Given the description of an element on the screen output the (x, y) to click on. 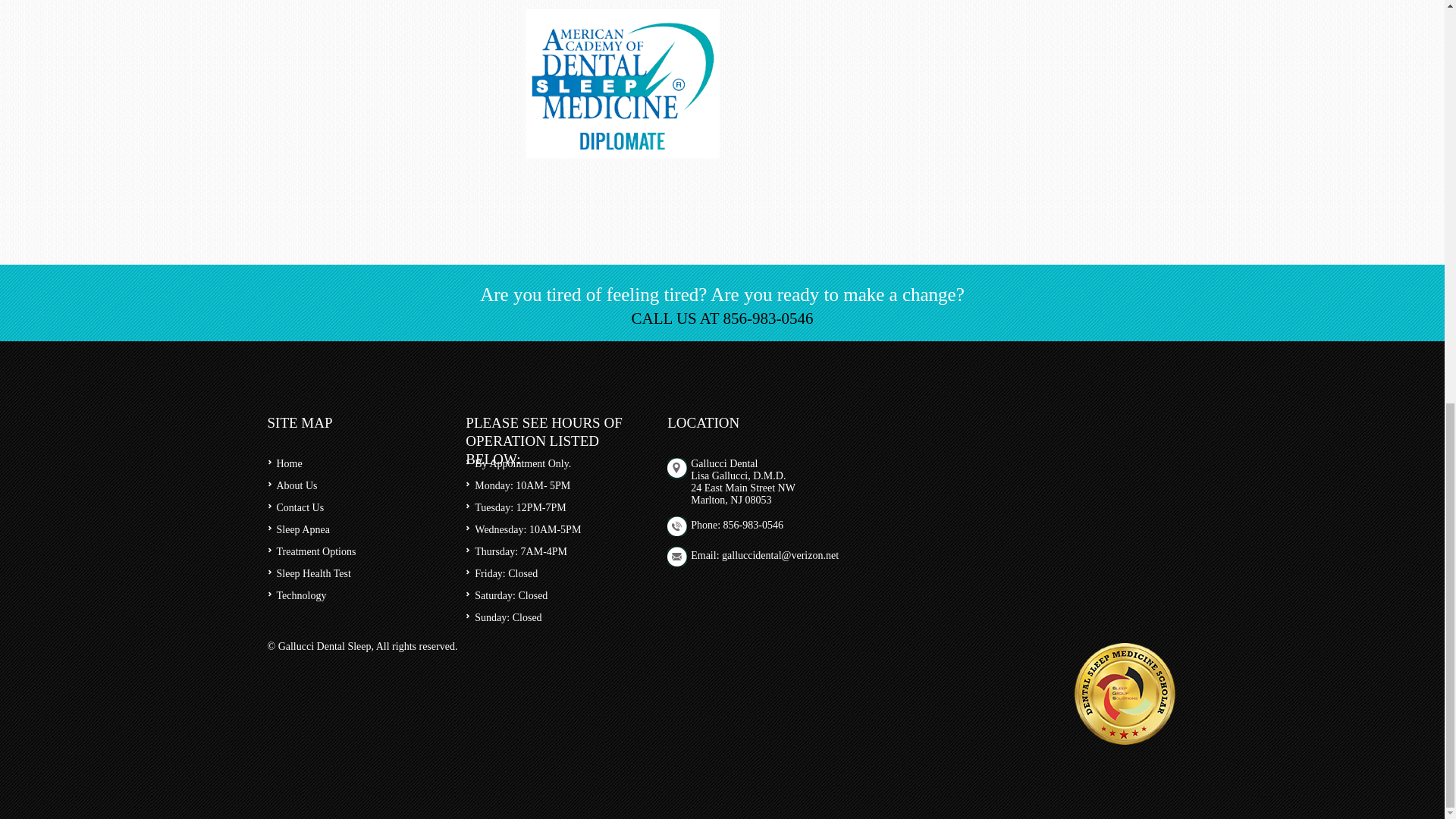
Sleep Apnea (302, 529)
Technology (301, 595)
Sleep Health Test (313, 573)
By Appointment Only. (522, 463)
Wednesday: 10AM-5PM (527, 529)
About Us (296, 485)
856-983-0546 (753, 524)
Tuesday: 12PM-7PM (520, 507)
Home (288, 463)
Contact Us (299, 507)
Treatment Options (315, 551)
Monday: 10AM- 5PM (522, 485)
Sunday: Closed (507, 617)
Friday: Closed (505, 573)
Thursday: 7AM-4PM (520, 551)
